Given the description of an element on the screen output the (x, y) to click on. 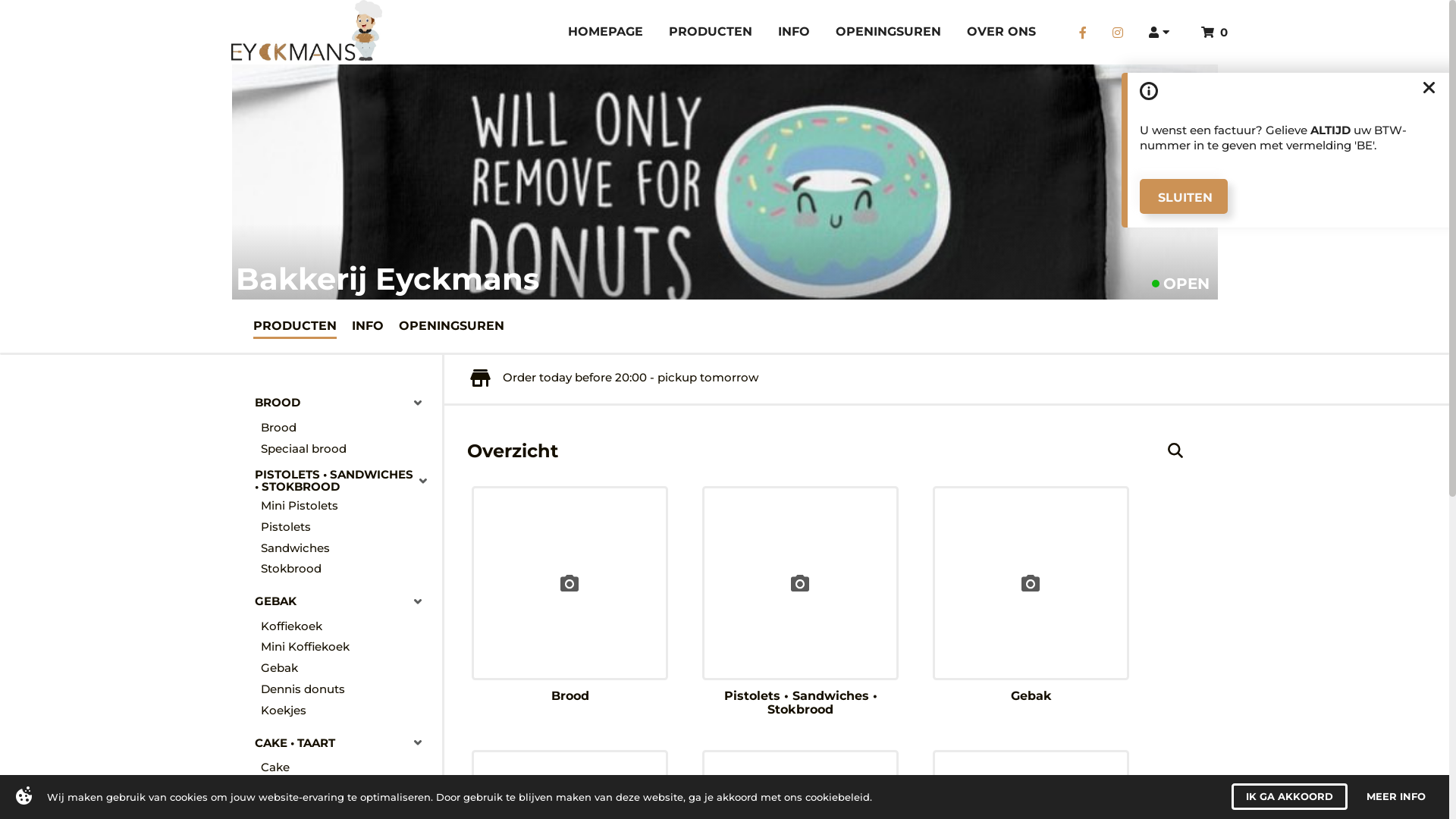
IK GA AKKOORD Element type: text (1289, 796)
Brood Element type: text (346, 427)
Koekjes Element type: text (346, 710)
Sandwiches Element type: text (346, 548)
Dennis donuts Element type: text (346, 689)
0 Element type: text (1214, 32)
Brood Element type: text (570, 594)
Koffiekoek Element type: text (346, 626)
OPENINGSUREN Element type: text (887, 32)
Cake Element type: text (346, 767)
Order today before 20:00 - pickup tomorrow Element type: text (614, 377)
Taart Element type: text (346, 788)
PRODUCTEN Element type: text (710, 32)
HOMEPAGE Element type: text (605, 32)
PRODUCTEN Element type: text (294, 325)
Pistolets Element type: text (346, 526)
Gebak Element type: text (346, 667)
Mini Koffiekoek Element type: text (346, 647)
Stokbrood Element type: text (346, 568)
INFO Element type: text (793, 32)
Speciaal brood Element type: text (346, 448)
OVER ONS Element type: text (1001, 32)
Mini Pistolets Element type: text (346, 505)
MEER INFO Element type: text (1395, 796)
Gebak Element type: text (1031, 594)
SLUITEN Element type: text (1183, 195)
OPENINGSUREN Element type: text (451, 325)
INFO Element type: text (367, 325)
